Given the description of an element on the screen output the (x, y) to click on. 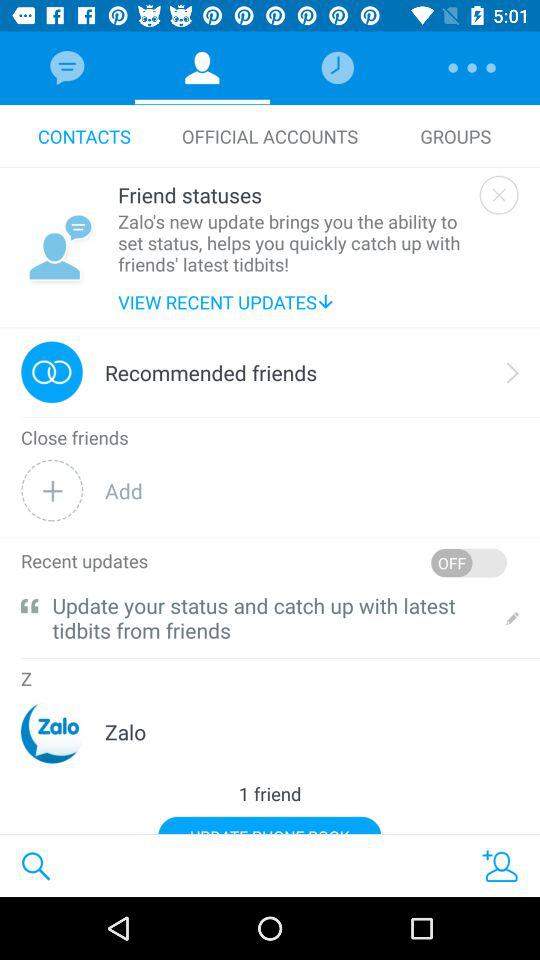
open the icon to the right of recommended friends icon (513, 372)
